Given the description of an element on the screen output the (x, y) to click on. 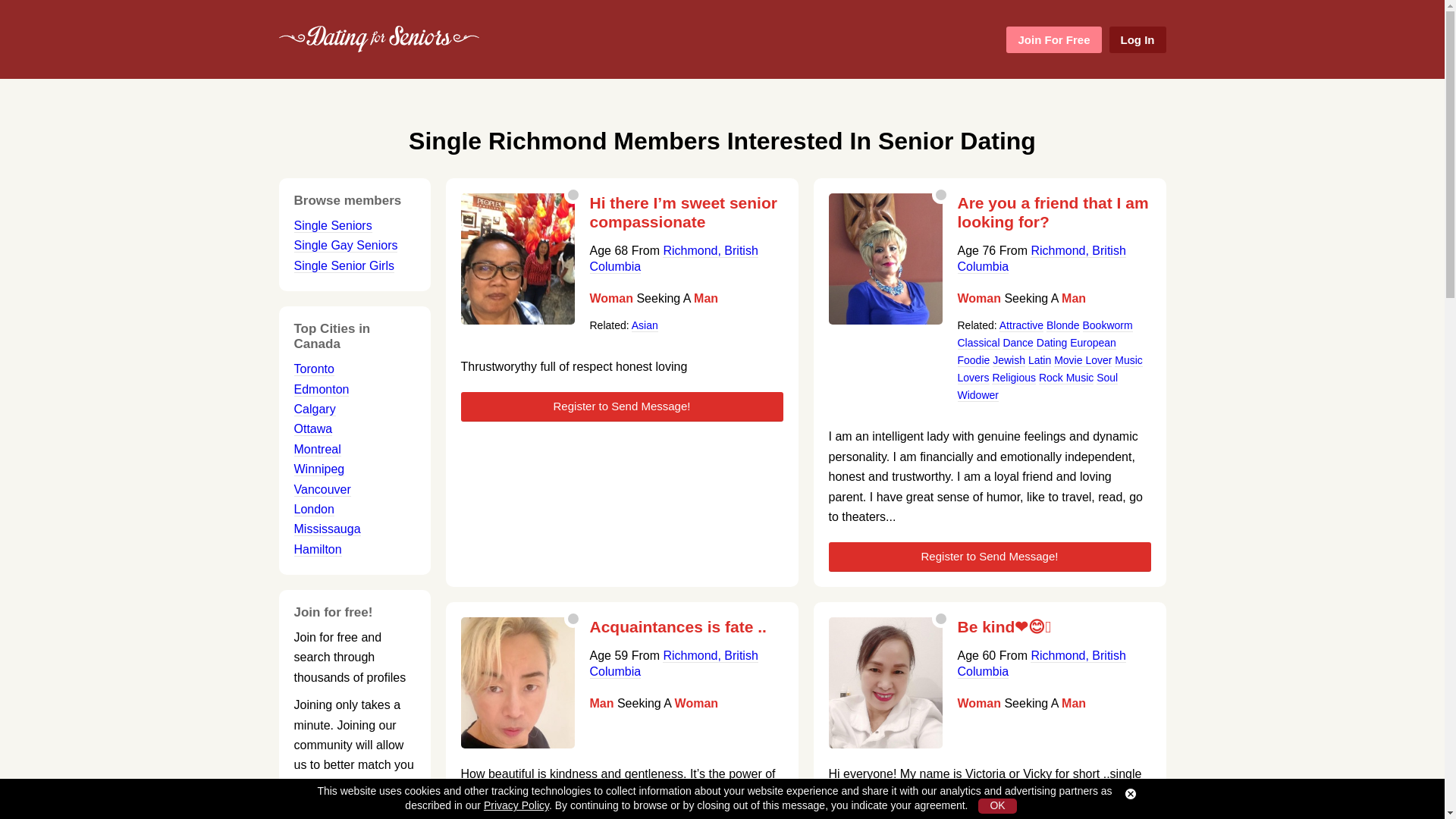
Single Senior Girls (344, 265)
Join For Free (1053, 39)
Single Seniors (333, 225)
Log In (1137, 39)
Single Gay Seniors (345, 245)
Close (1130, 793)
OK (997, 806)
Privacy Policy (515, 805)
